Given the description of an element on the screen output the (x, y) to click on. 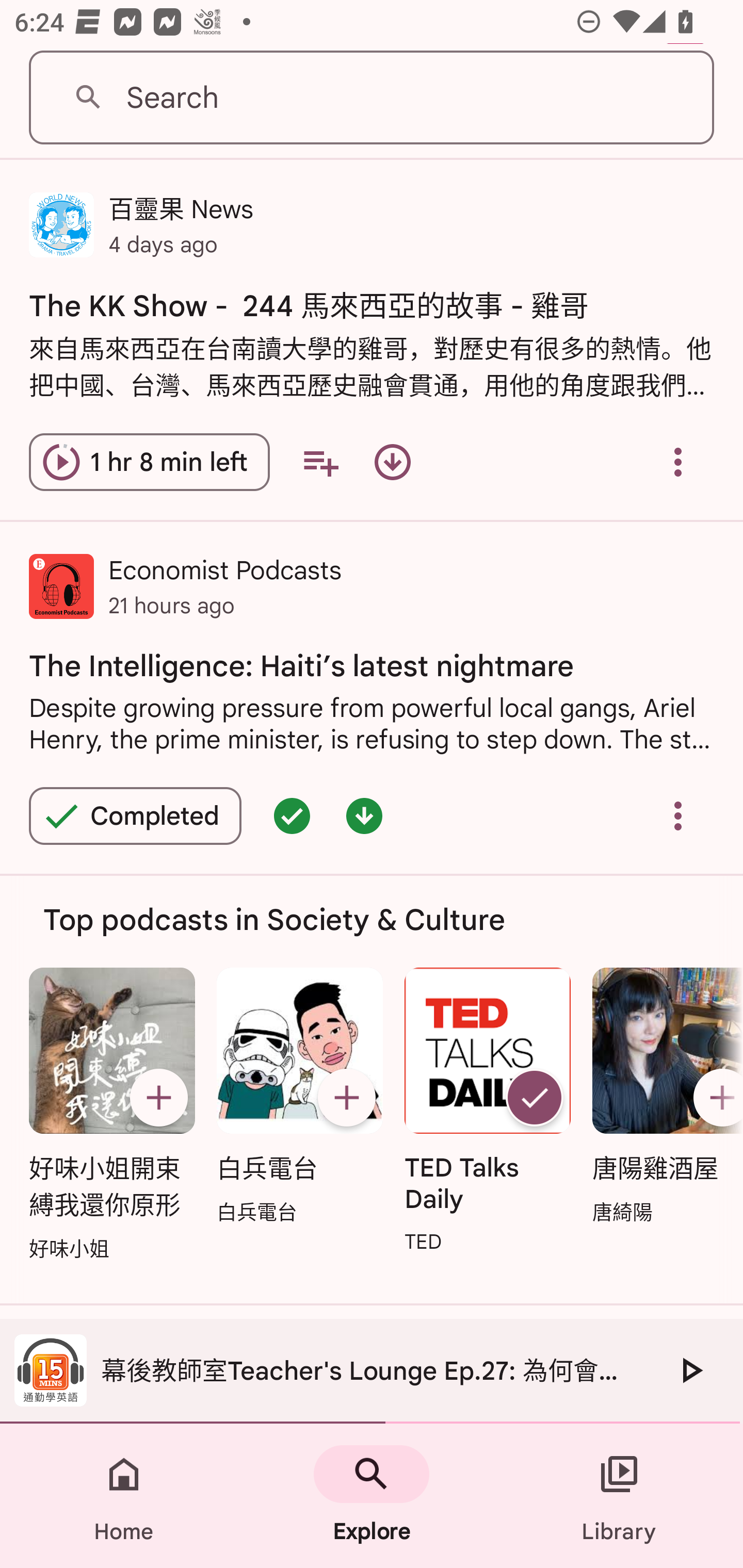
Search (371, 97)
Add to your queue (320, 461)
Download episode (392, 461)
Overflow menu (677, 461)
Episode queued - double tap for options (291, 816)
Episode downloaded - double tap for options (364, 816)
Overflow menu (677, 816)
好味小姐開束縛我還你原形 Subscribe 好味小姐開束縛我還你原形 好味小姐 (111, 1115)
白兵電台 Subscribe 白兵電台 白兵電台 (299, 1096)
TED Talks Daily Unsubscribe TED Talks Daily TED (487, 1111)
唐陽雞酒屋 Subscribe 唐陽雞酒屋 唐綺陽 (662, 1096)
Subscribe (158, 1097)
Subscribe (346, 1097)
Unsubscribe (534, 1097)
Subscribe (714, 1097)
Play (690, 1370)
Home (123, 1495)
Library (619, 1495)
